Given the description of an element on the screen output the (x, y) to click on. 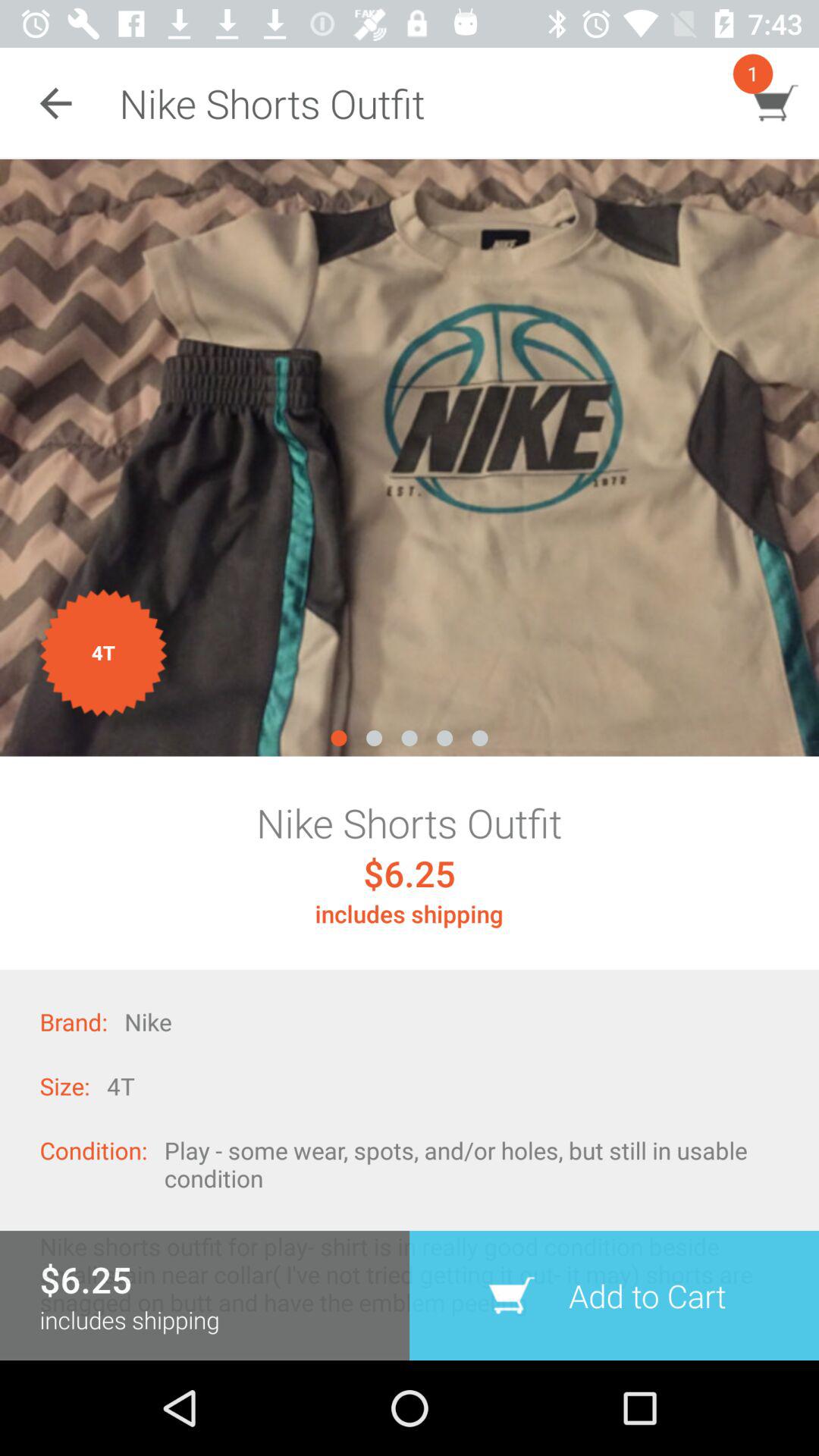
view product photos (409, 457)
